Given the description of an element on the screen output the (x, y) to click on. 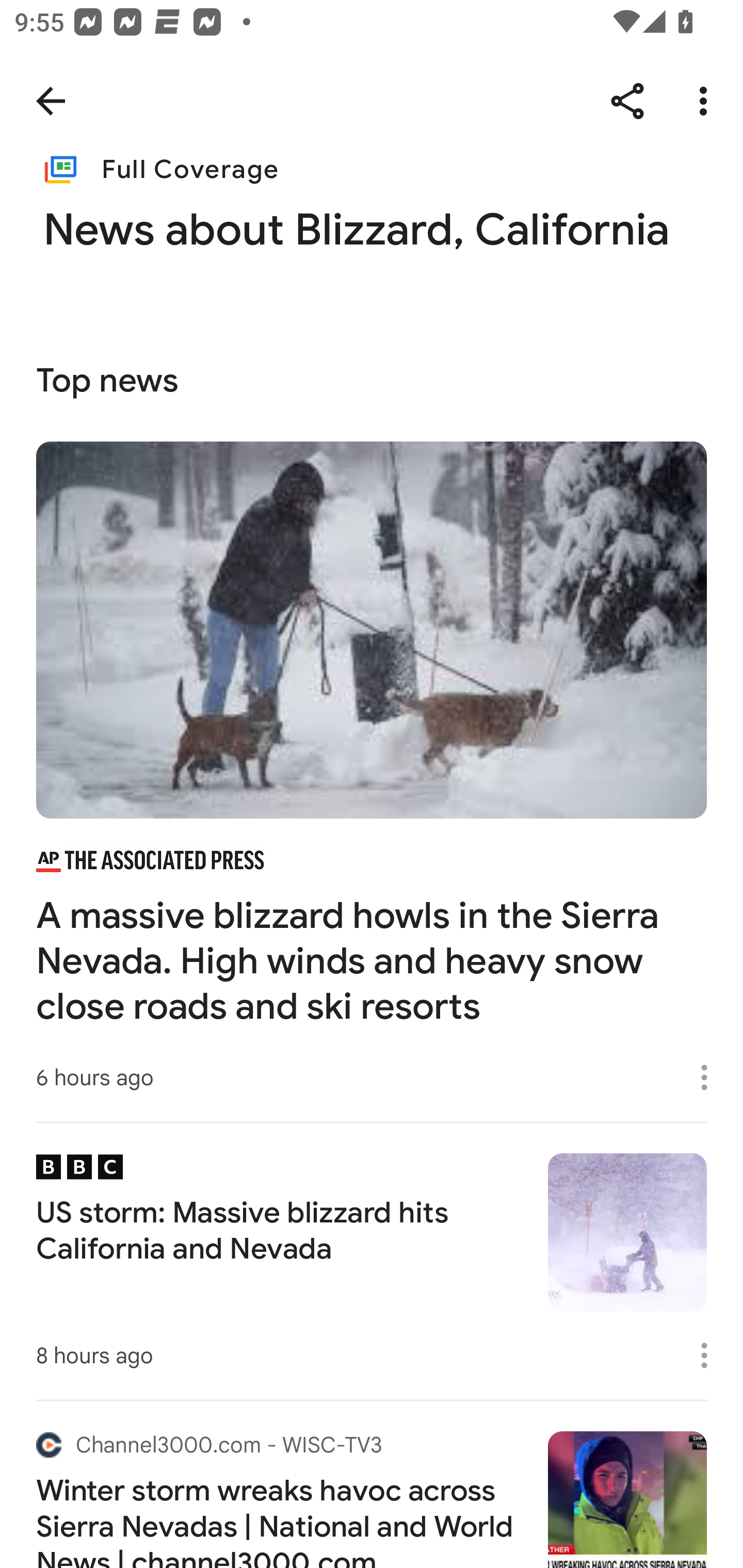
Navigate up (50, 101)
Share (626, 101)
More options (706, 101)
More options (711, 1077)
More options (711, 1355)
